Given the description of an element on the screen output the (x, y) to click on. 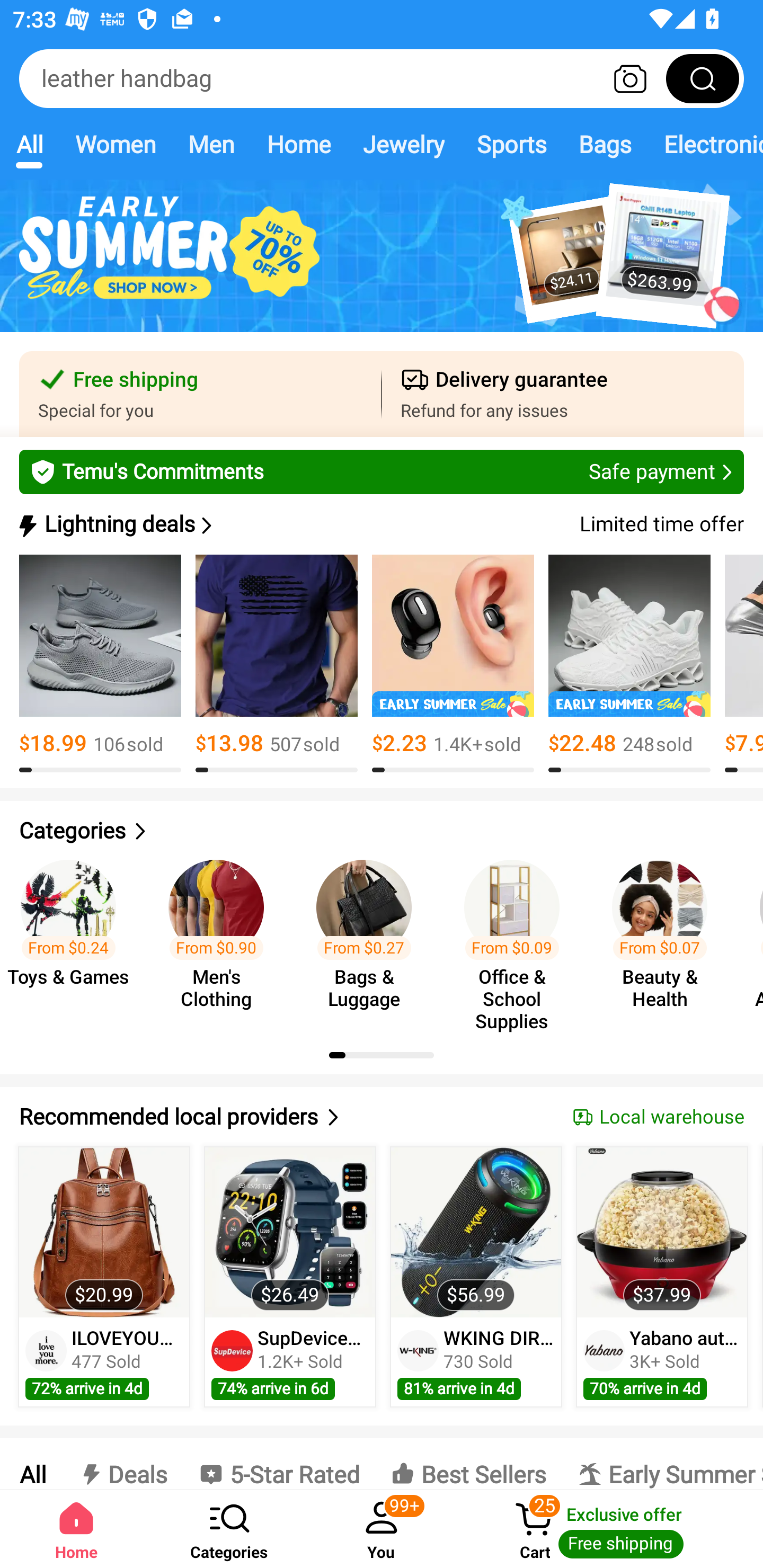
leather handbag (381, 78)
All (29, 144)
Women (115, 144)
Men (211, 144)
Home (298, 144)
Jewelry (403, 144)
Sports (511, 144)
Bags (605, 144)
Electronics (705, 144)
$24.11 $263.99 (381, 265)
Free shipping Special for you (200, 394)
Delivery guarantee Refund for any issues (562, 394)
Temu's Commitments (381, 471)
Lightning deals Lightning deals Limited time offer (379, 524)
$18.99 106￼sold 8.0 (100, 664)
$13.98 507￼sold 8.0 (276, 664)
$2.23 1.4K+￼sold 8.0 (453, 664)
$22.48 248￼sold 8.0 (629, 664)
Categories (381, 830)
From $0.24 Toys & Games (74, 936)
From $0.90 Men's Clothing (222, 936)
From $0.27 Bags & Luggage (369, 936)
From $0.09 Office & School Supplies (517, 936)
From $0.07 Beauty & Health (665, 936)
$20.99 ILOVEYOUMORE 477 Sold 72% arrive in 4d (103, 1276)
$26.49 SupDeviceUS 1.2K+ Sold 74% arrive in 6d (289, 1276)
$56.99 WKING DIRECT 730 Sold 81% arrive in 4d (475, 1276)
$20.99 (104, 1232)
$26.49 (290, 1232)
$56.99 (475, 1232)
$37.99 (661, 1232)
All (32, 1463)
Deals Deals Deals (122, 1463)
5-Star Rated 5-Star Rated 5-Star Rated (279, 1463)
Best Sellers Best Sellers Best Sellers (468, 1463)
Home (76, 1528)
Categories (228, 1528)
You ‎99+‎ You (381, 1528)
Cart 25 Cart Exclusive offer (610, 1528)
